Given the description of an element on the screen output the (x, y) to click on. 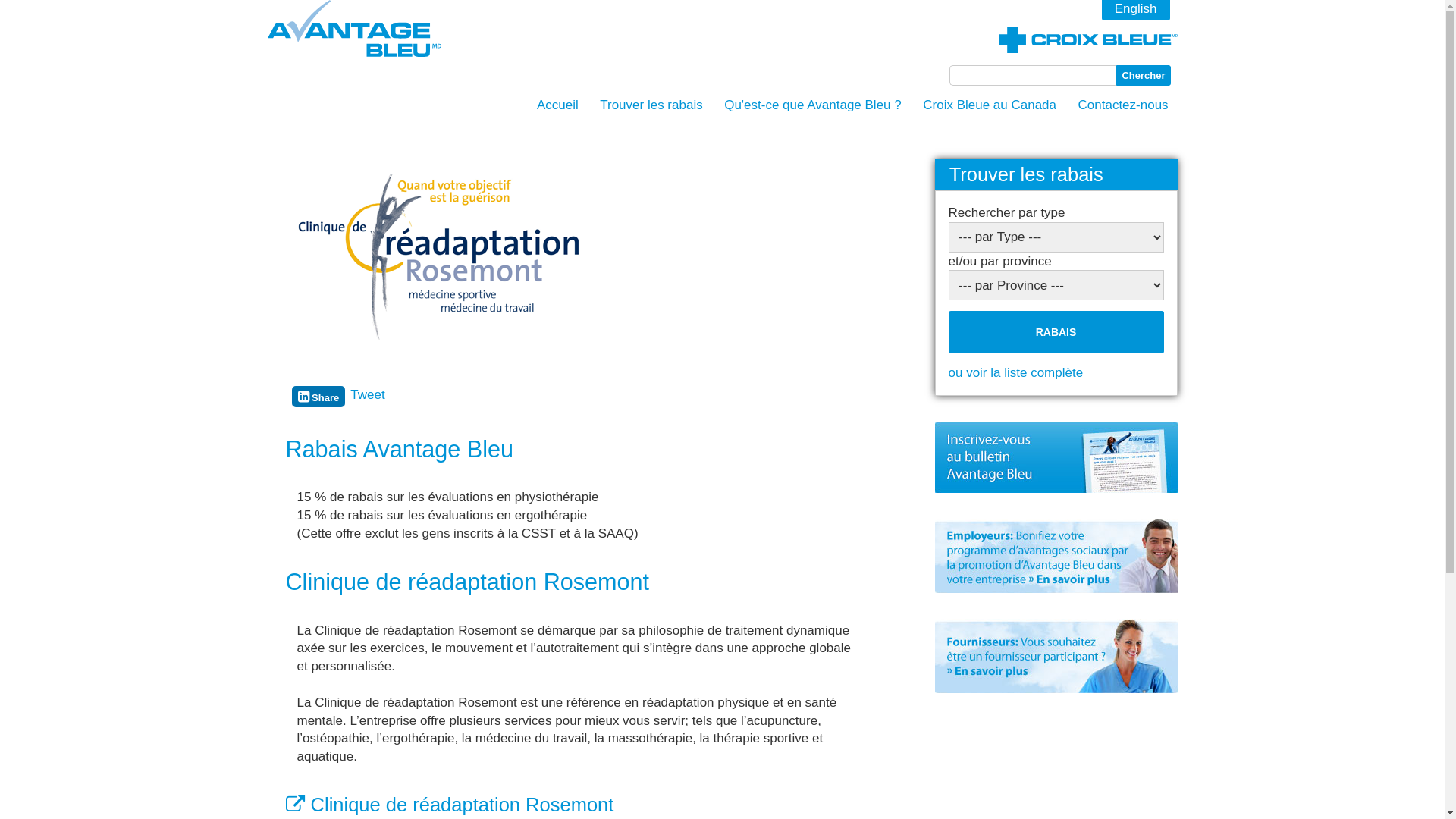
Accueil du programme Avantage Bleu Element type: hover (353, 30)
Croix Bleue Element type: hover (1088, 29)
Rabais Element type: text (1055, 331)
Contactez-nous Element type: text (1122, 104)
Accueil Element type: text (557, 104)
Tweet Element type: text (367, 394)
English Element type: text (1135, 10)
Croix Bleue au Canada Element type: text (989, 104)
Rabais Element type: hover (1055, 331)
Qu'est-ce que Avantage Bleu ? Element type: text (812, 104)
Chercher Element type: text (1143, 75)
S'inscrire pour recevoir le bulletin Avantage Bleu. Element type: hover (1055, 456)
Share Element type: text (318, 396)
Trouver les rabais Element type: text (651, 104)
Search Blue Advantage Element type: hover (1042, 74)
